Given the description of an element on the screen output the (x, y) to click on. 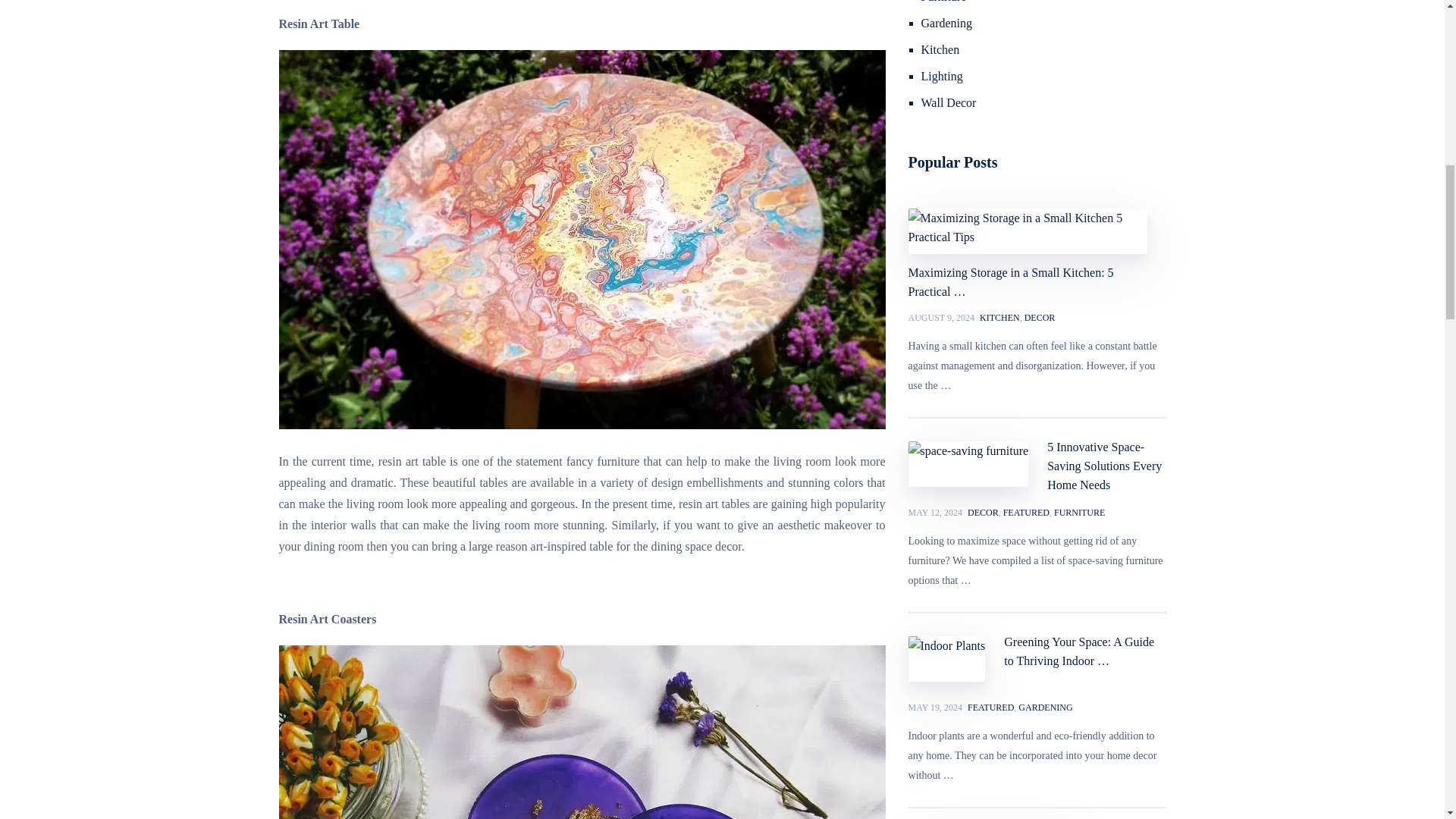
View all posts in Kitchen (999, 317)
Maximizing Storage in a Small Kitchen: 5 Practical Tips (1037, 252)
View all posts in Decor (1040, 317)
5 Innovative Space-Saving Solutions Every Home Needs (1037, 465)
